Given the description of an element on the screen output the (x, y) to click on. 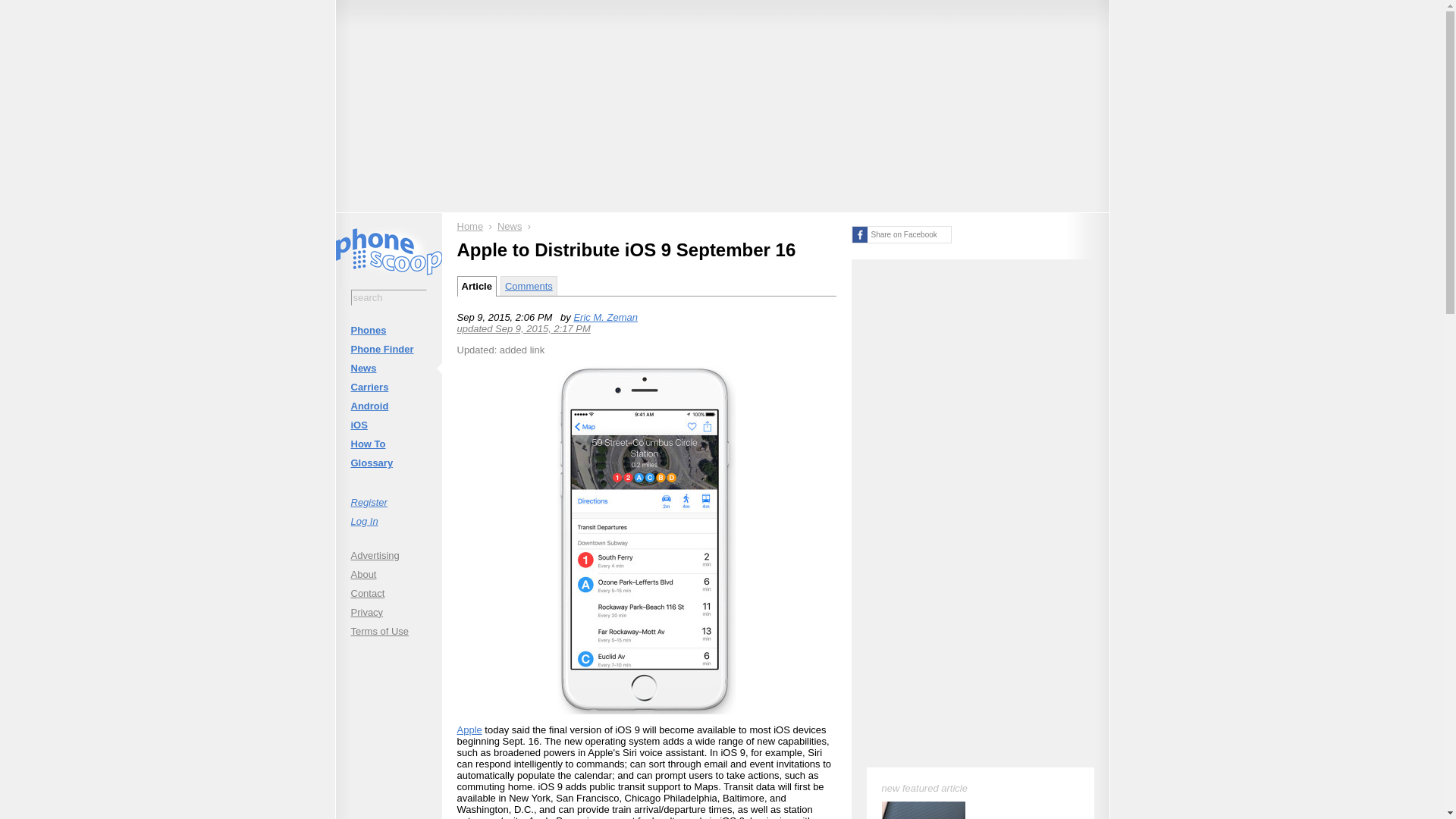
News (387, 367)
Terms of Use (387, 630)
Register (387, 502)
updated Sep 9, 2015, 2:17 PM (523, 328)
Contact (387, 592)
Home (470, 225)
Android (387, 405)
How To (387, 443)
Advertising (387, 555)
Eric M. Zeman (605, 317)
